Given the description of an element on the screen output the (x, y) to click on. 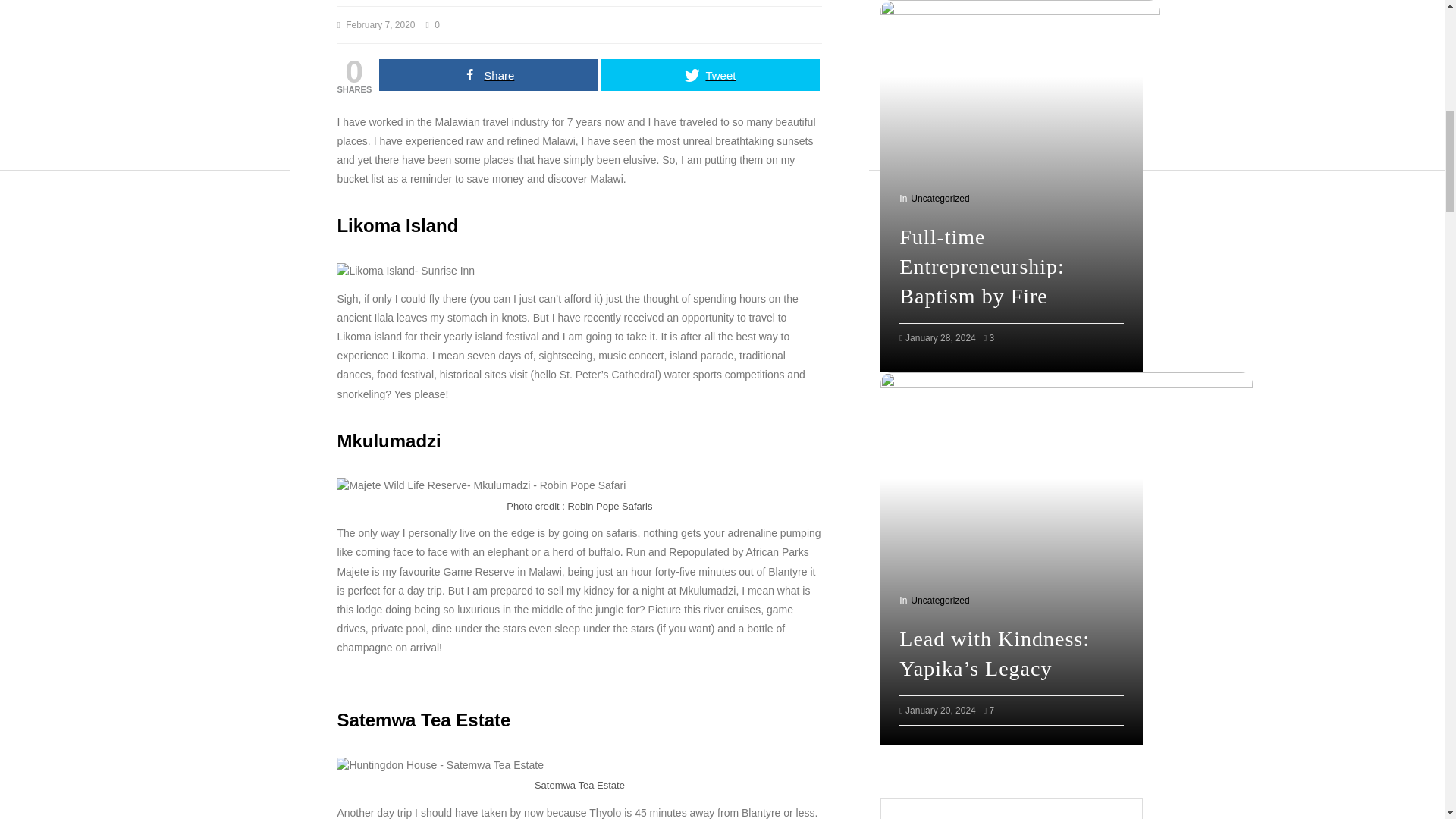
February 7, 2020 (380, 24)
Share (488, 74)
Search (936, 555)
Search (936, 555)
Tweet (709, 74)
